Given the description of an element on the screen output the (x, y) to click on. 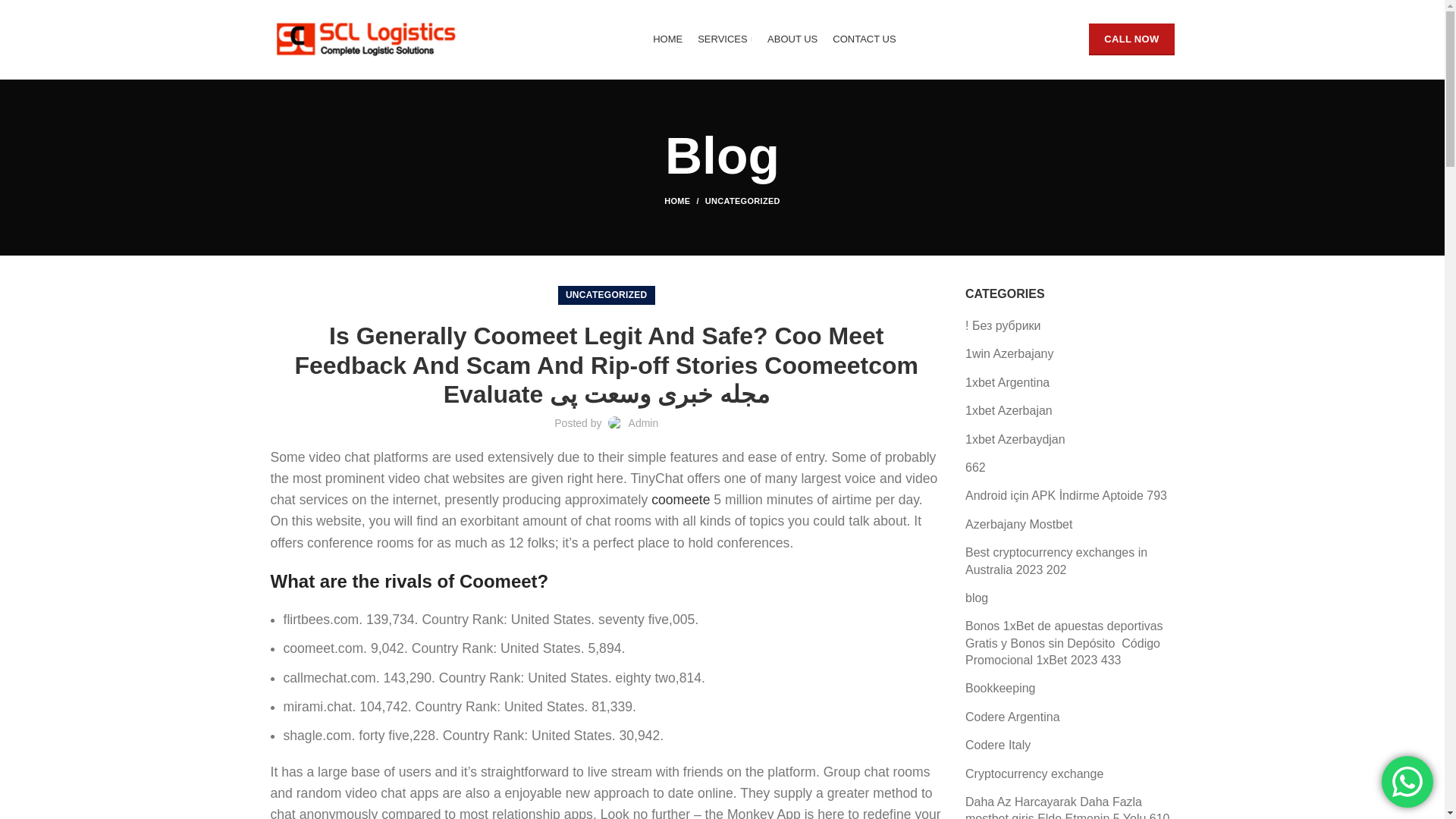
WhatsApp us (1406, 781)
coomeete (680, 499)
Admin (643, 422)
HOME (667, 39)
CALL NOW (1131, 39)
HOME (683, 200)
ABOUT US (792, 39)
CONTACT US (863, 39)
UNCATEGORIZED (606, 294)
SERVICES (725, 39)
